Given the description of an element on the screen output the (x, y) to click on. 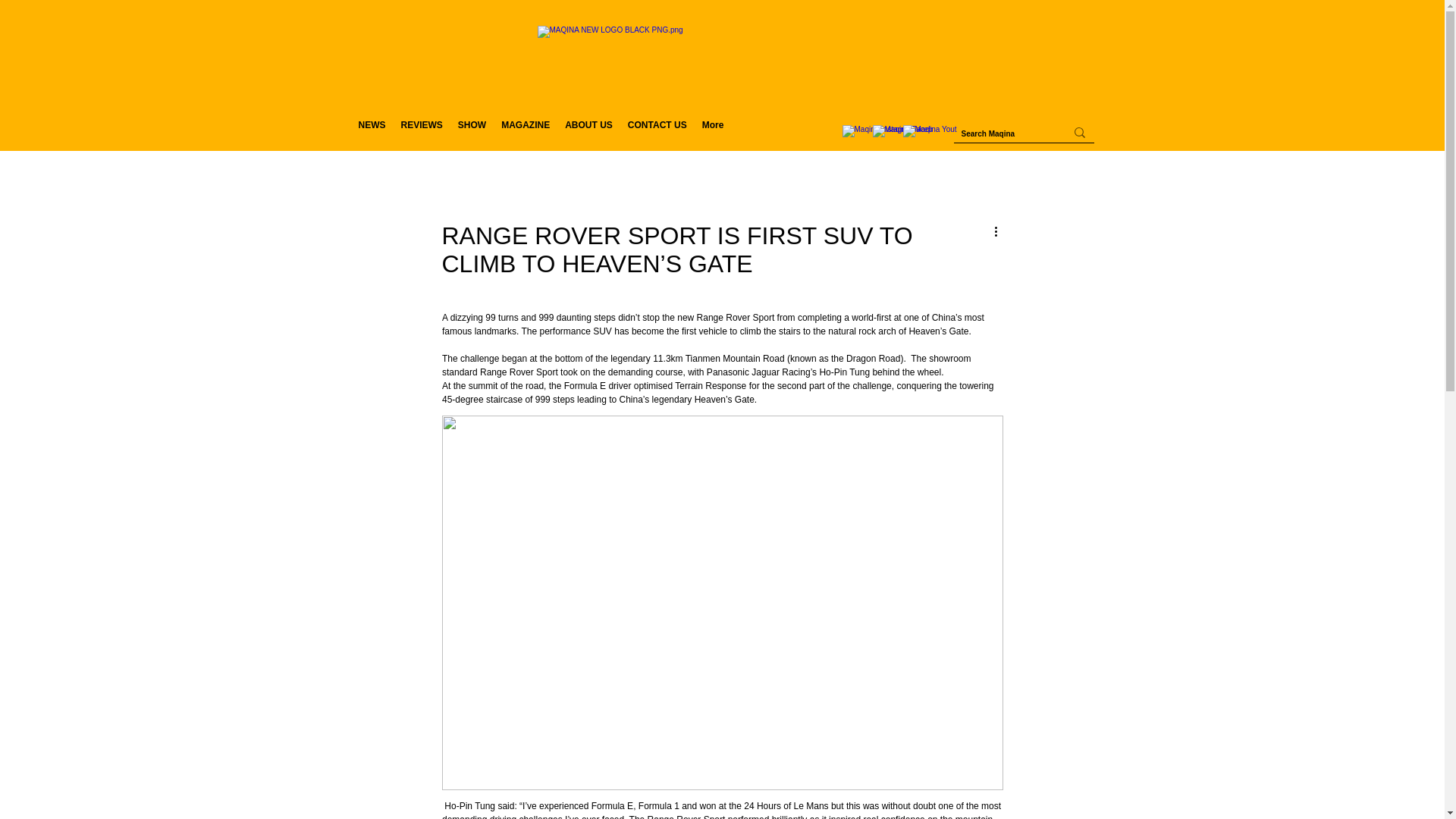
MAGAZINE (525, 132)
CONTACT US (657, 132)
SHOW (471, 132)
NEWS (371, 132)
ABOUT US (588, 132)
REVIEWS (421, 132)
